Given the description of an element on the screen output the (x, y) to click on. 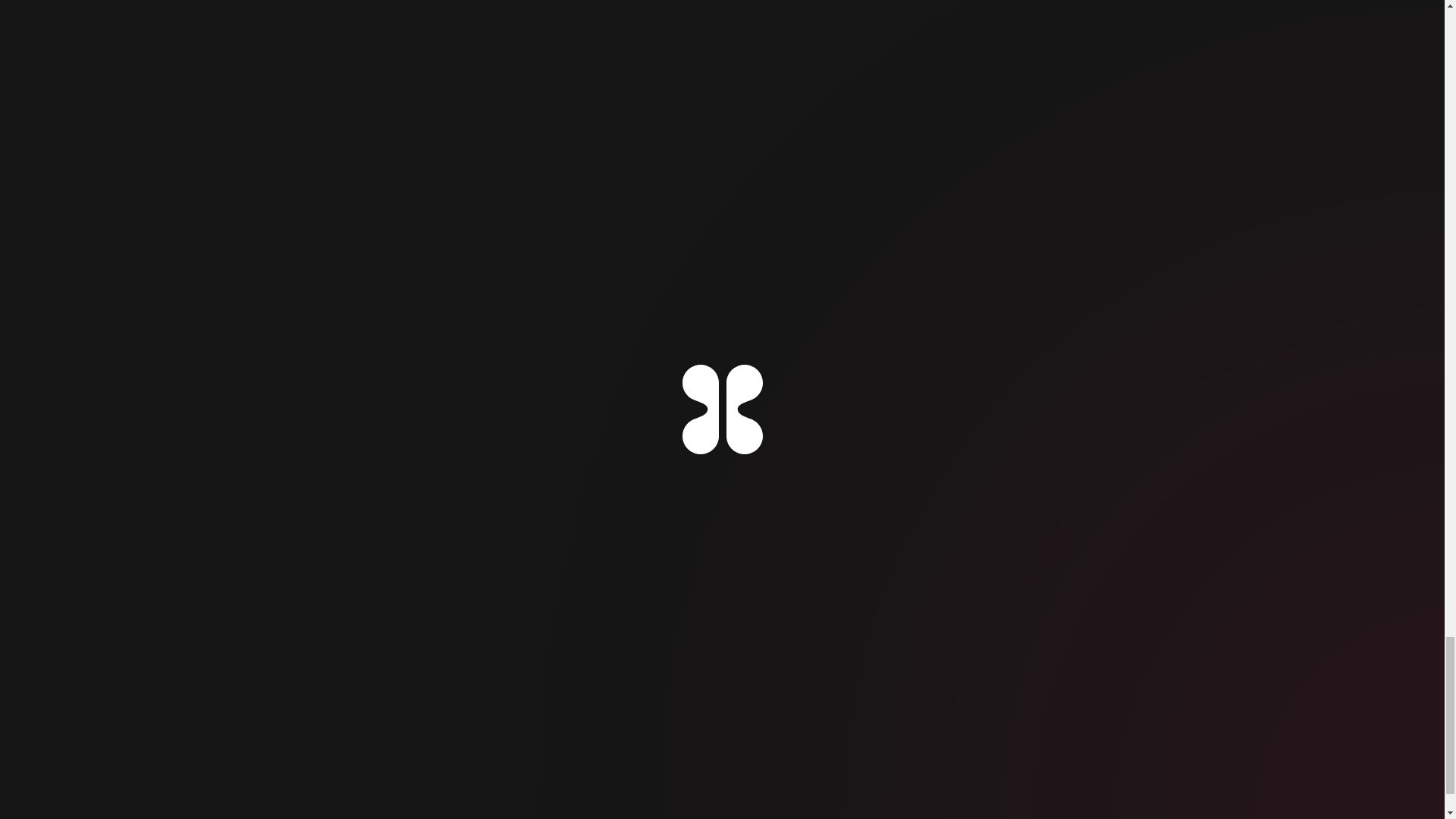
WordPress Maintenance (987, 546)
Web Development (730, 546)
WordPress Hosting (1140, 546)
Web Design (607, 546)
eCommerce (851, 546)
WordPress Retainers (628, 599)
